Given the description of an element on the screen output the (x, y) to click on. 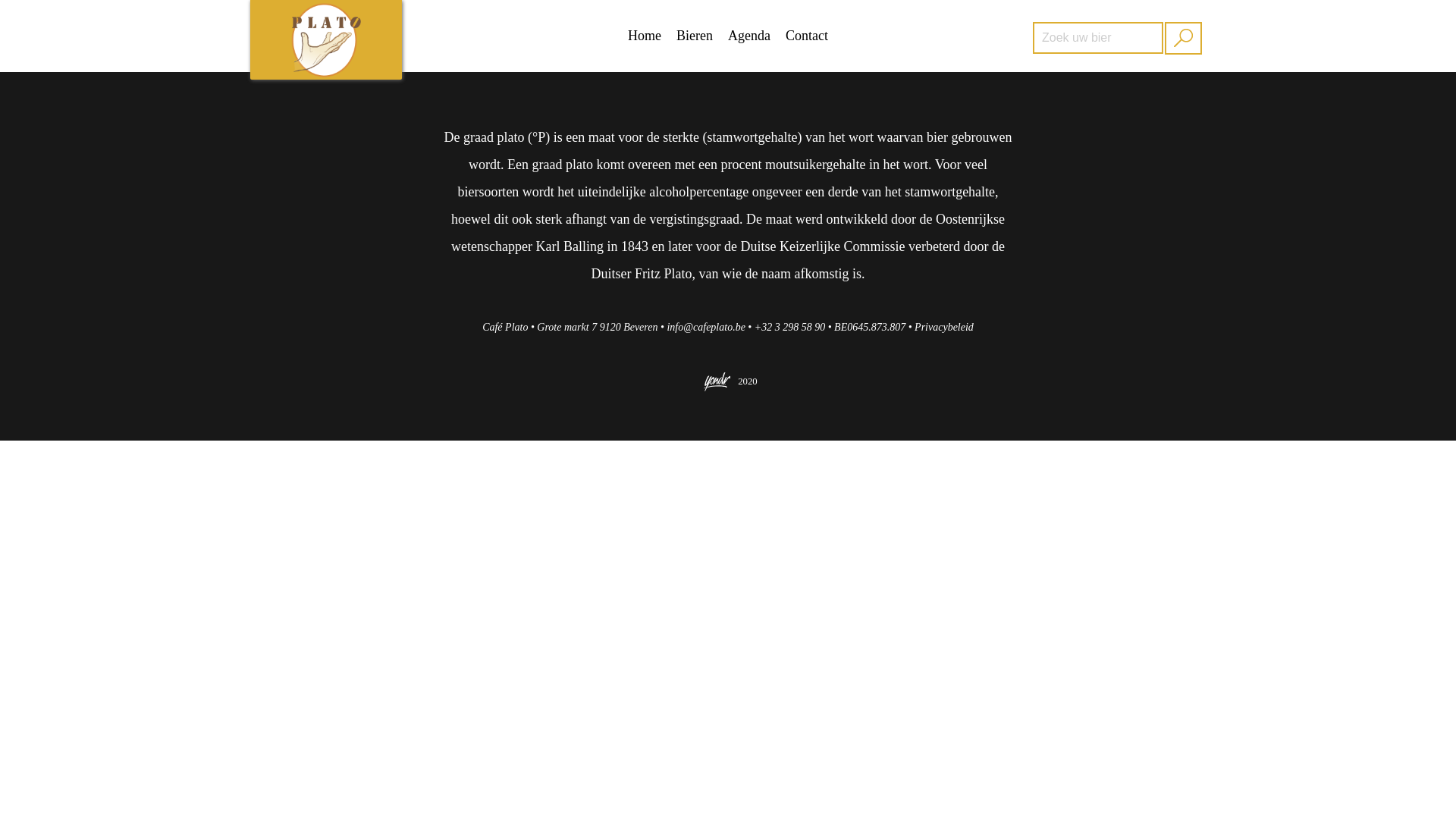
Home Element type: text (644, 35)
info@cafeplato.be Element type: text (705, 326)
+32 3 298 58 90 Element type: text (789, 326)
Bieren Element type: text (694, 35)
Agenda Element type: text (749, 35)
Yondr Element type: text (748, 387)
Contact Element type: text (806, 35)
Privacybeleid Element type: text (942, 326)
